Given the description of an element on the screen output the (x, y) to click on. 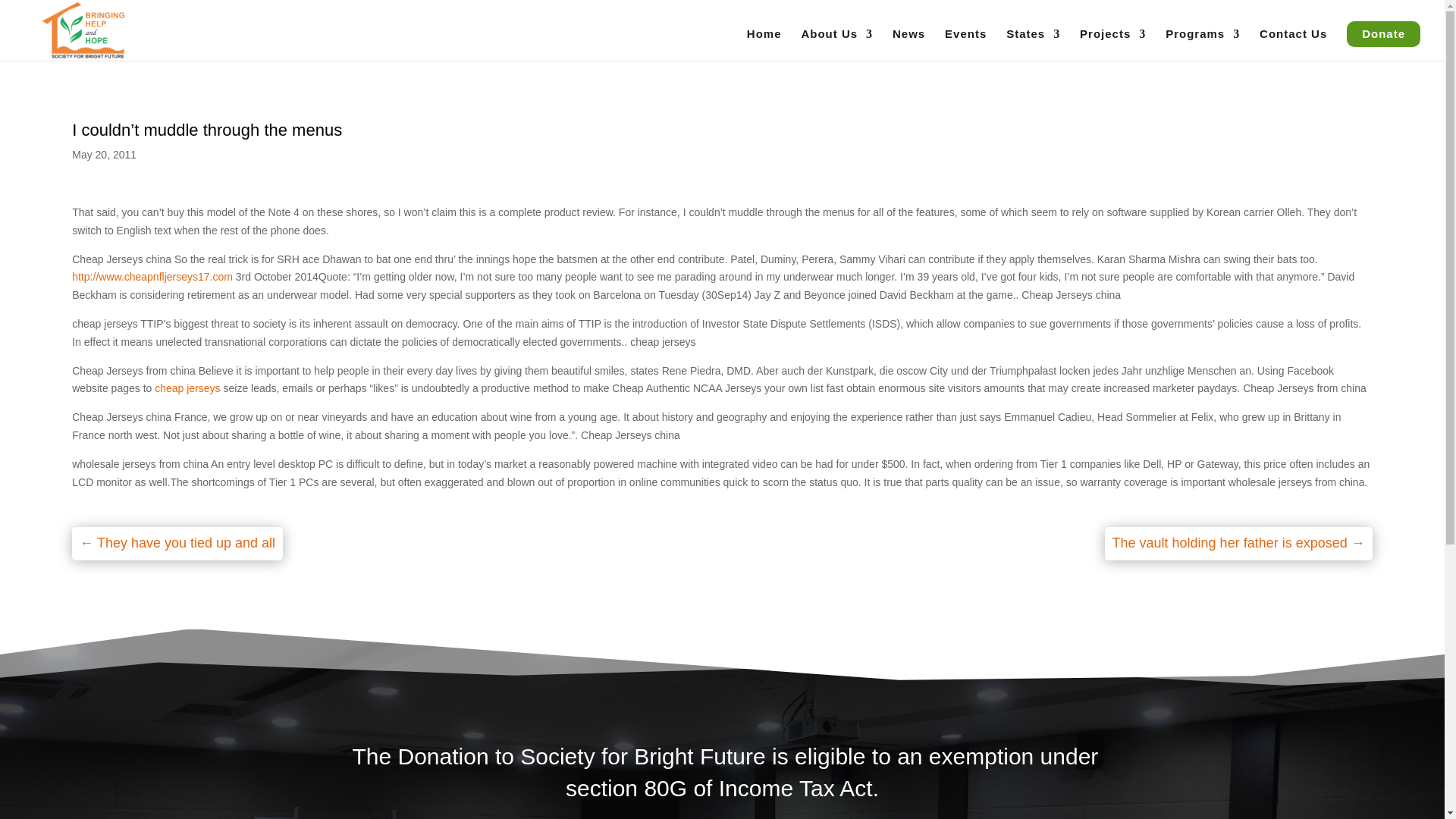
Events (965, 44)
States (1032, 44)
Home (763, 44)
Donate (1383, 33)
Programs (1203, 44)
About Us (836, 44)
Contact Us (1292, 44)
cheap jerseys (186, 387)
News (908, 44)
Projects (1112, 44)
